Given the description of an element on the screen output the (x, y) to click on. 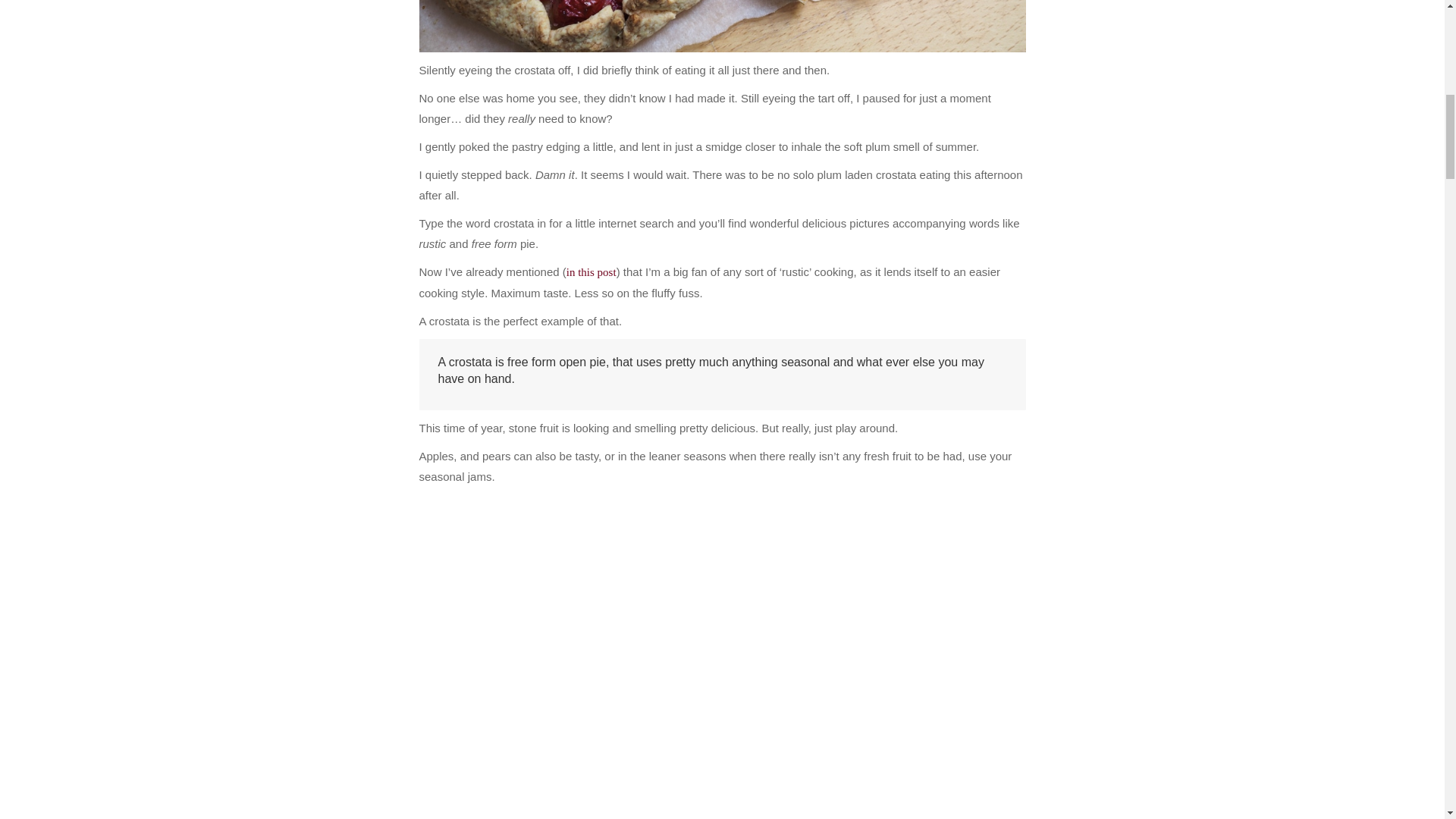
in this post (590, 272)
